Given the description of an element on the screen output the (x, y) to click on. 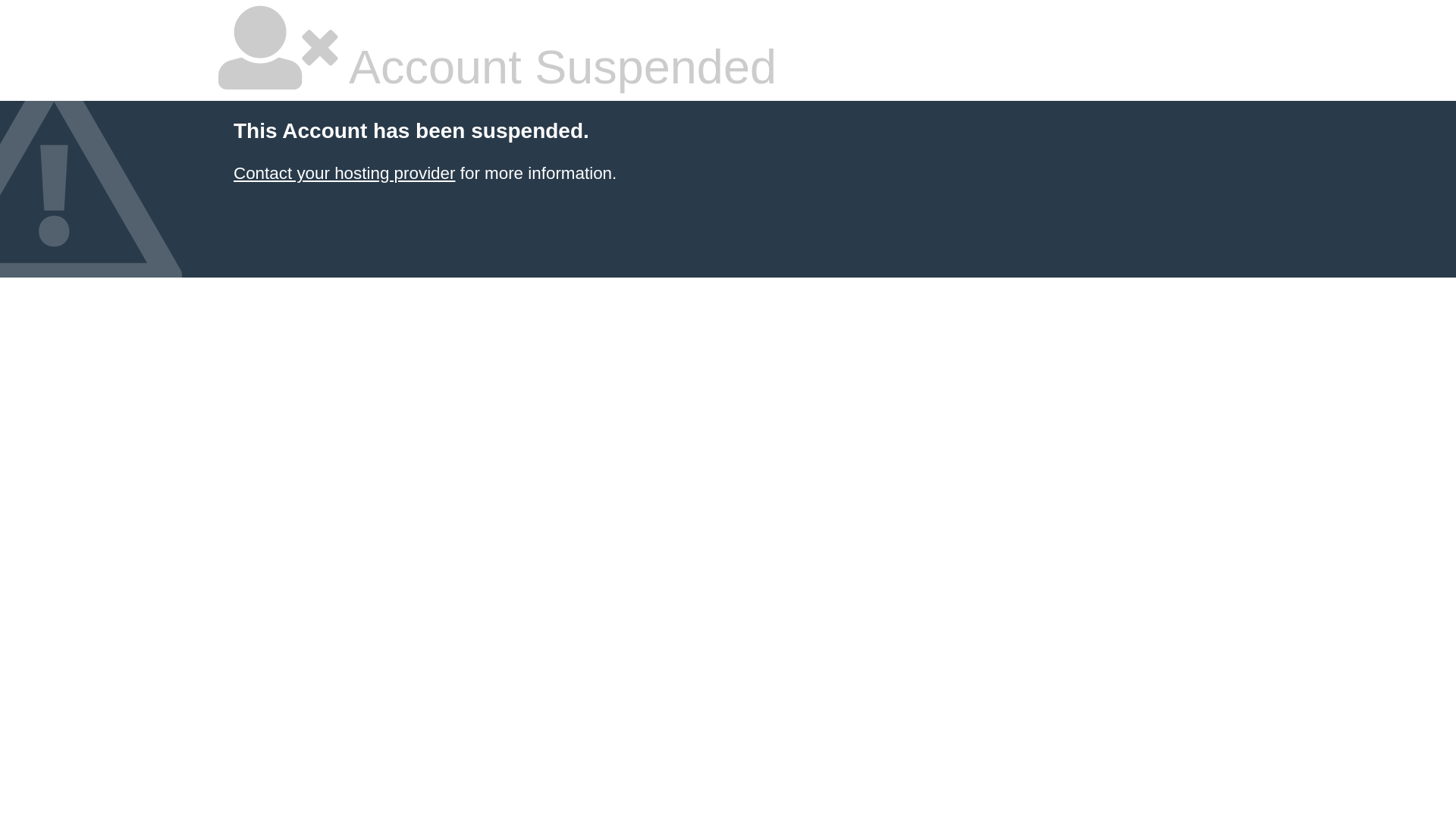
Contact your hosting provider Element type: text (344, 172)
